Given the description of an element on the screen output the (x, y) to click on. 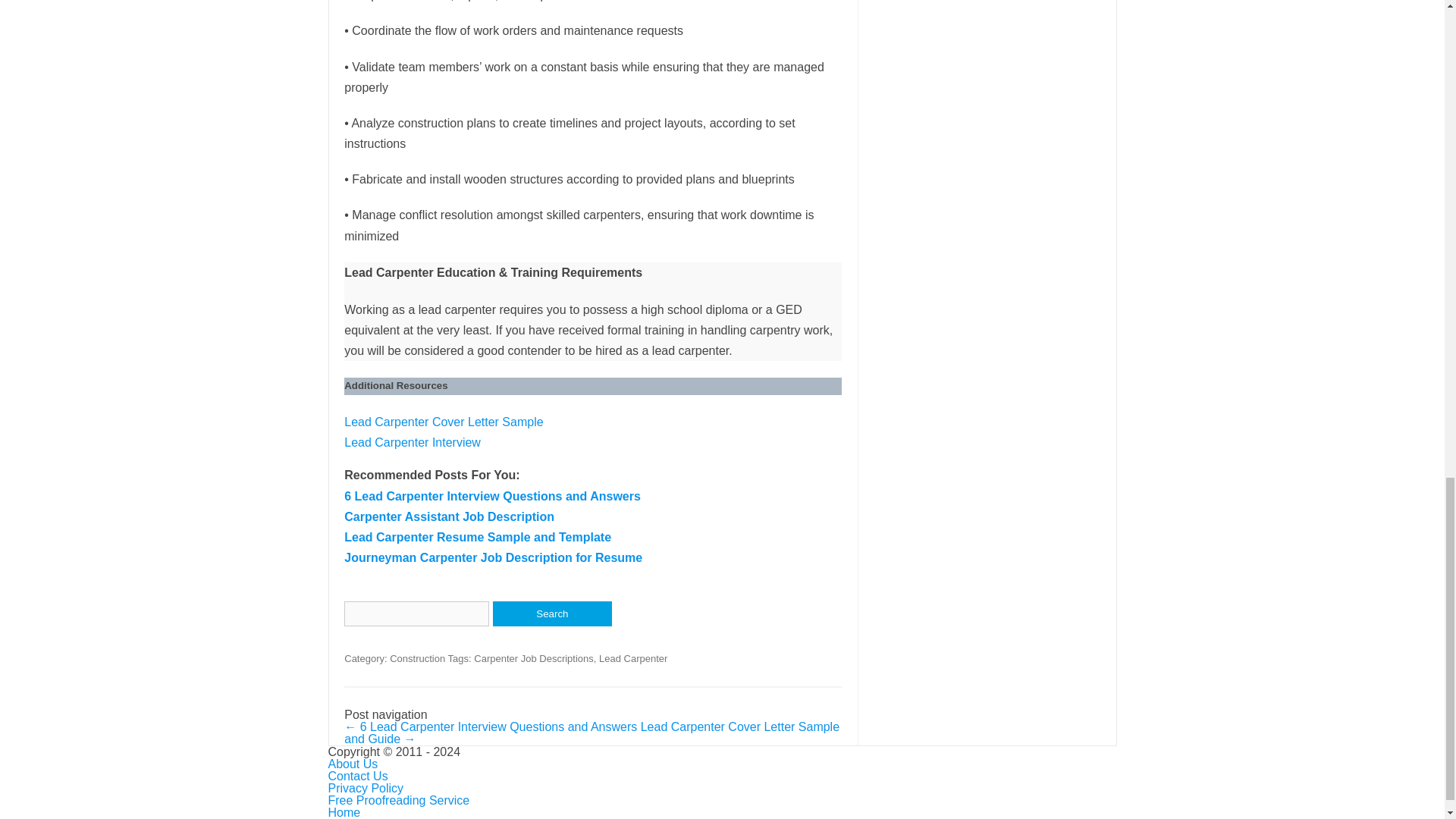
About Us (352, 763)
Carpenter Job Descriptions (534, 658)
Lead Carpenter Resume Sample and Template (477, 536)
Lead Carpenter (632, 658)
Lead Carpenter Resume Sample and Template (477, 536)
Lead Carpenter Cover Letter Sample (443, 421)
6 Lead Carpenter Interview Questions and Answers (491, 495)
Construction (417, 658)
Search (552, 613)
6 Lead Carpenter Interview Questions and Answers (491, 495)
